Given the description of an element on the screen output the (x, y) to click on. 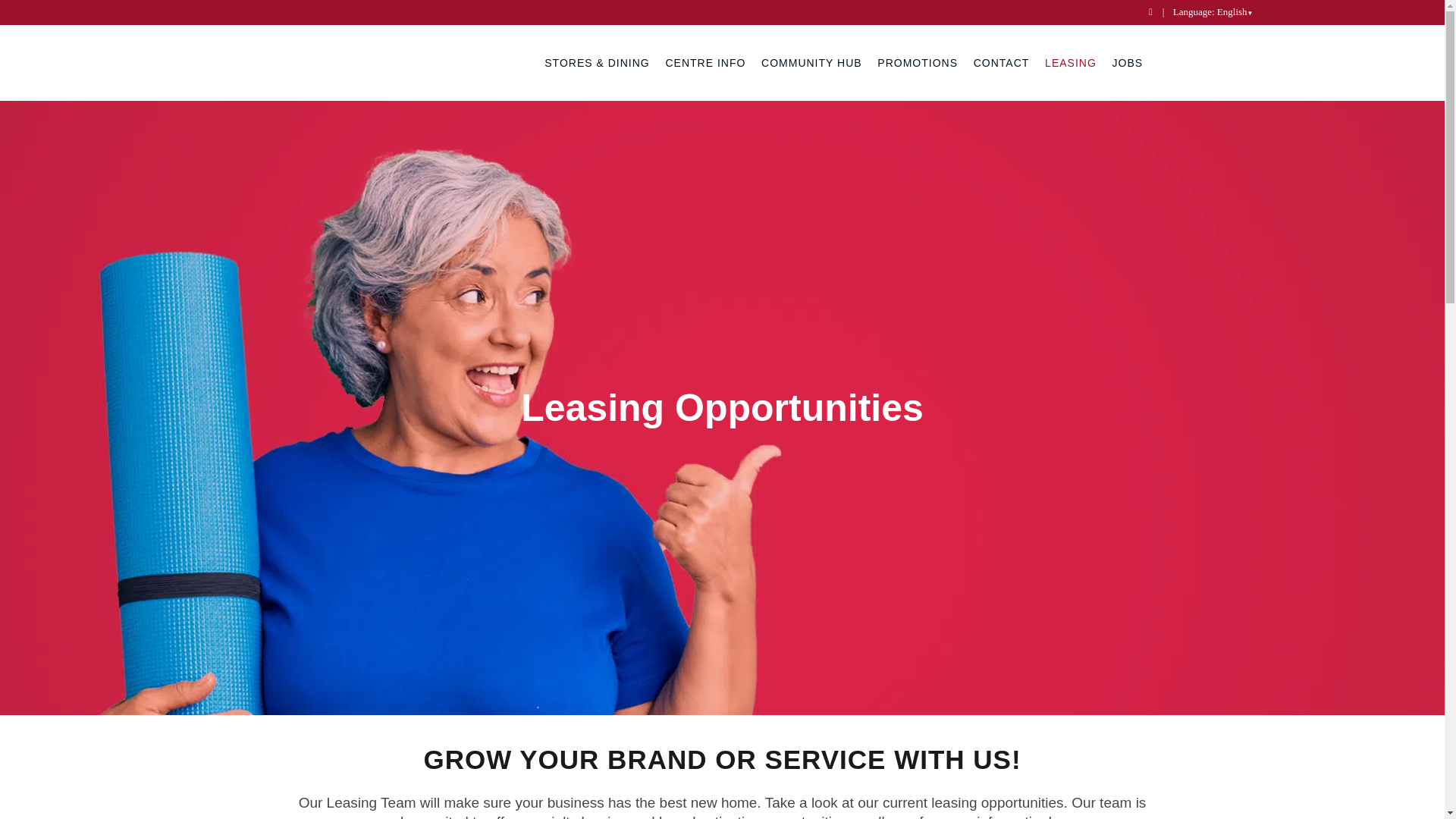
CENTRE INFO (705, 62)
COMMUNITY HUB (811, 62)
CONTACT (1001, 62)
PROMOTIONS (916, 62)
